Given the description of an element on the screen output the (x, y) to click on. 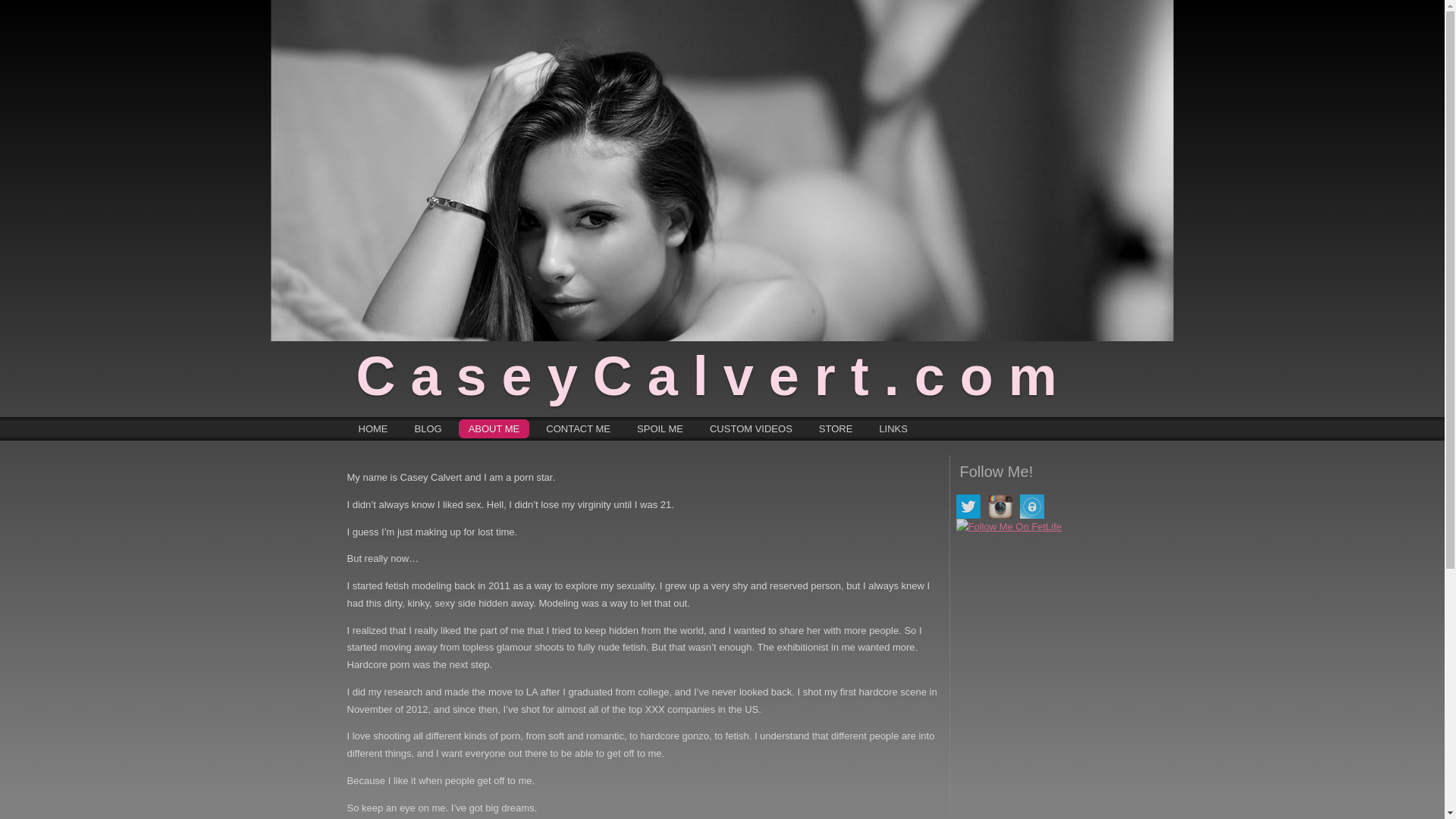
Follow Me On Instagram (999, 506)
About Me (493, 428)
Follow Me On FetLife (1008, 527)
Spoil Me (660, 428)
Home (373, 428)
Custom Videos (751, 428)
BLOG (427, 428)
Follow Me On OnlyFans (1031, 506)
SPOIL ME (660, 428)
Links (893, 428)
